Given the description of an element on the screen output the (x, y) to click on. 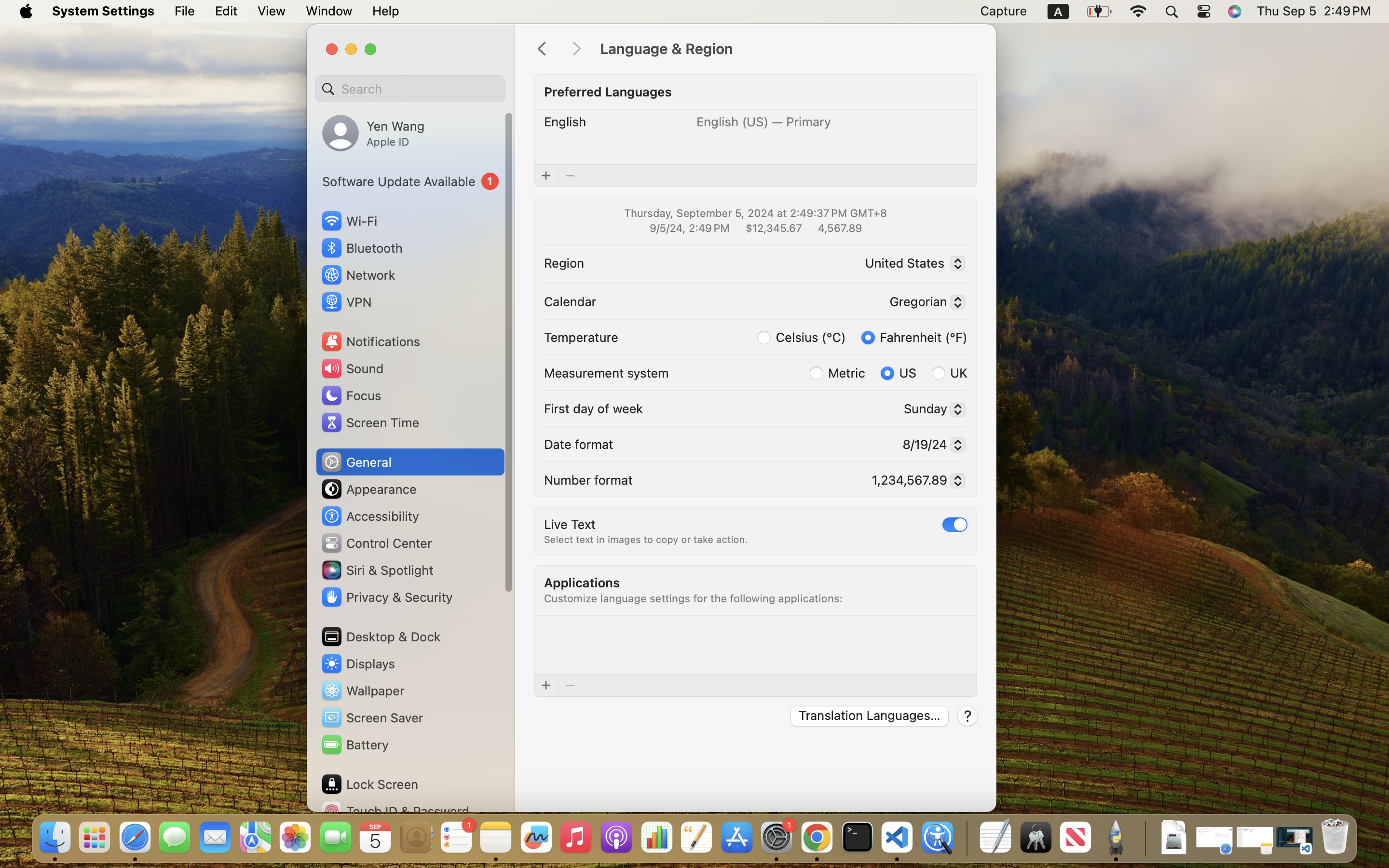
Focus Element type: AXStaticText (350, 394)
English Element type: AXStaticText (565, 121)
1,234,567.89 Element type: AXPopUpButton (914, 481)
Bluetooth Element type: AXStaticText (361, 247)
